Given the description of an element on the screen output the (x, y) to click on. 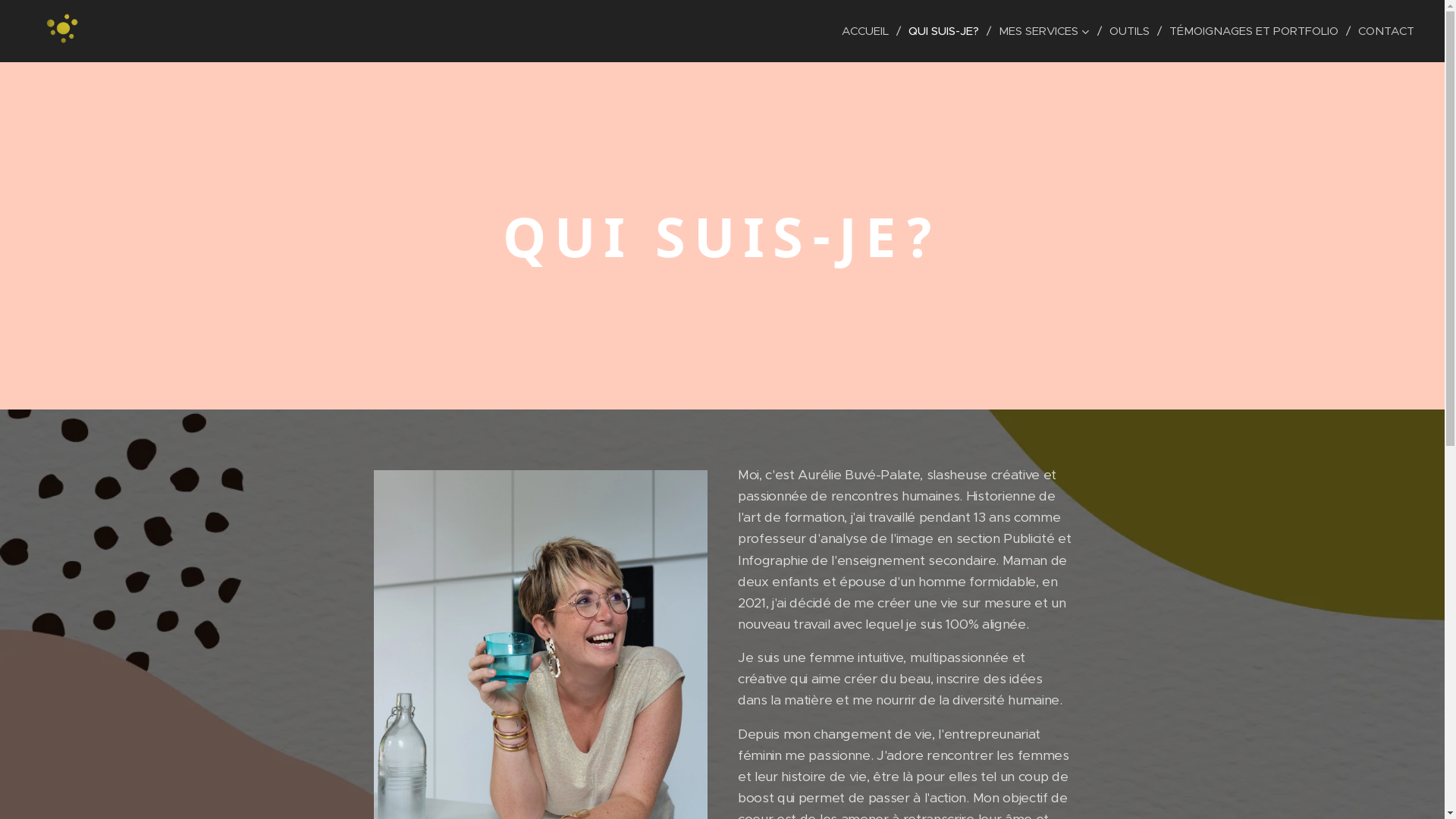
OUTILS Element type: text (1131, 31)
ACCUEIL Element type: text (868, 31)
MES SERVICES Element type: text (1046, 31)
QUI SUIS-JE? Element type: text (945, 31)
CONTACT Element type: text (1382, 31)
